Given the description of an element on the screen output the (x, y) to click on. 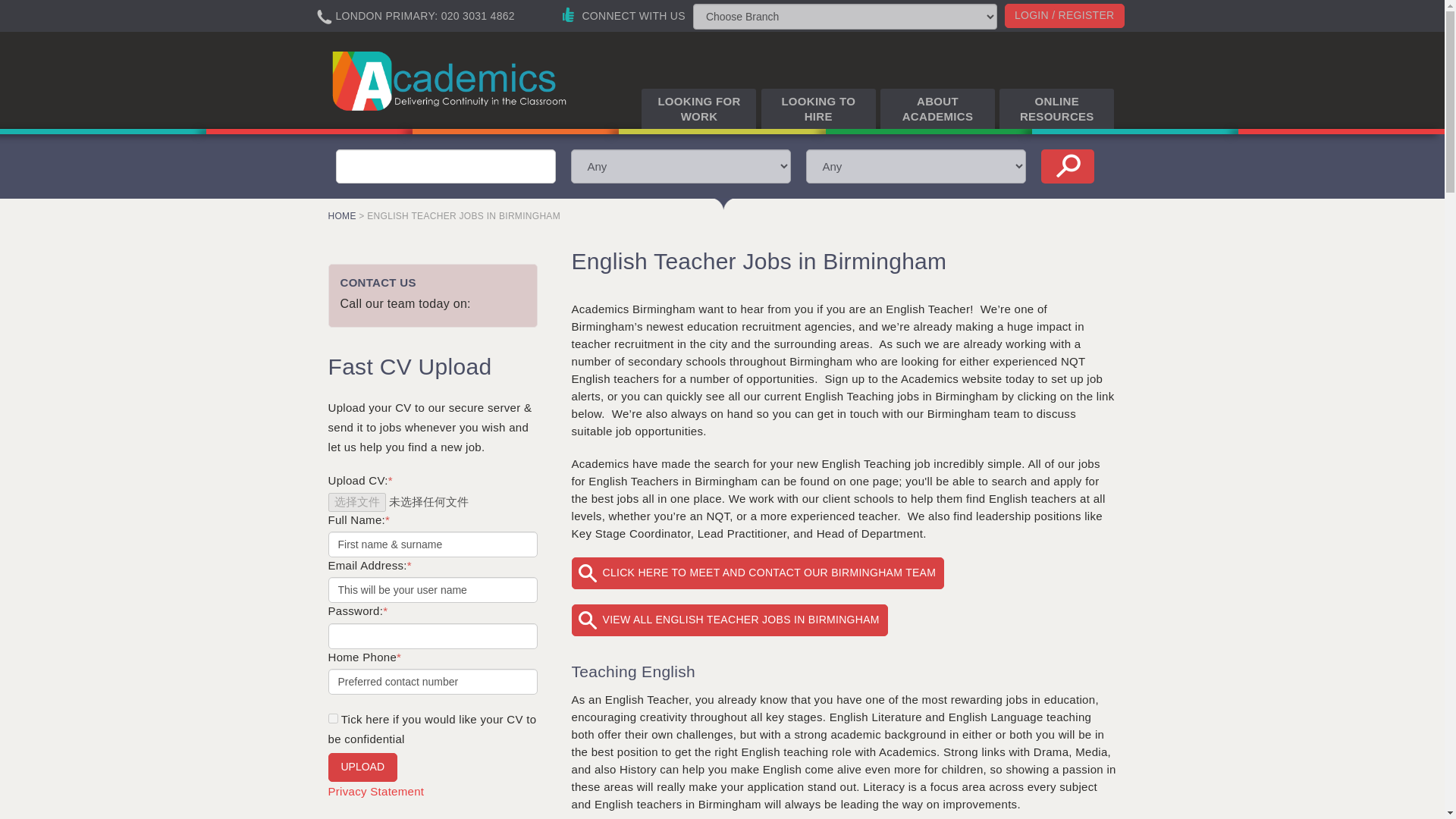
Upload (362, 767)
Privacy Statement (375, 790)
Search (1067, 166)
Preferred contact number (432, 681)
Search (1067, 166)
LOOKING FOR WORK (698, 108)
on (332, 718)
LONDON PRIMARY: 020 3031 4862 (428, 13)
LONDON PRIMARY: 020 3031 4862 (416, 17)
This will be your user name (432, 589)
Home (451, 79)
